Given the description of an element on the screen output the (x, y) to click on. 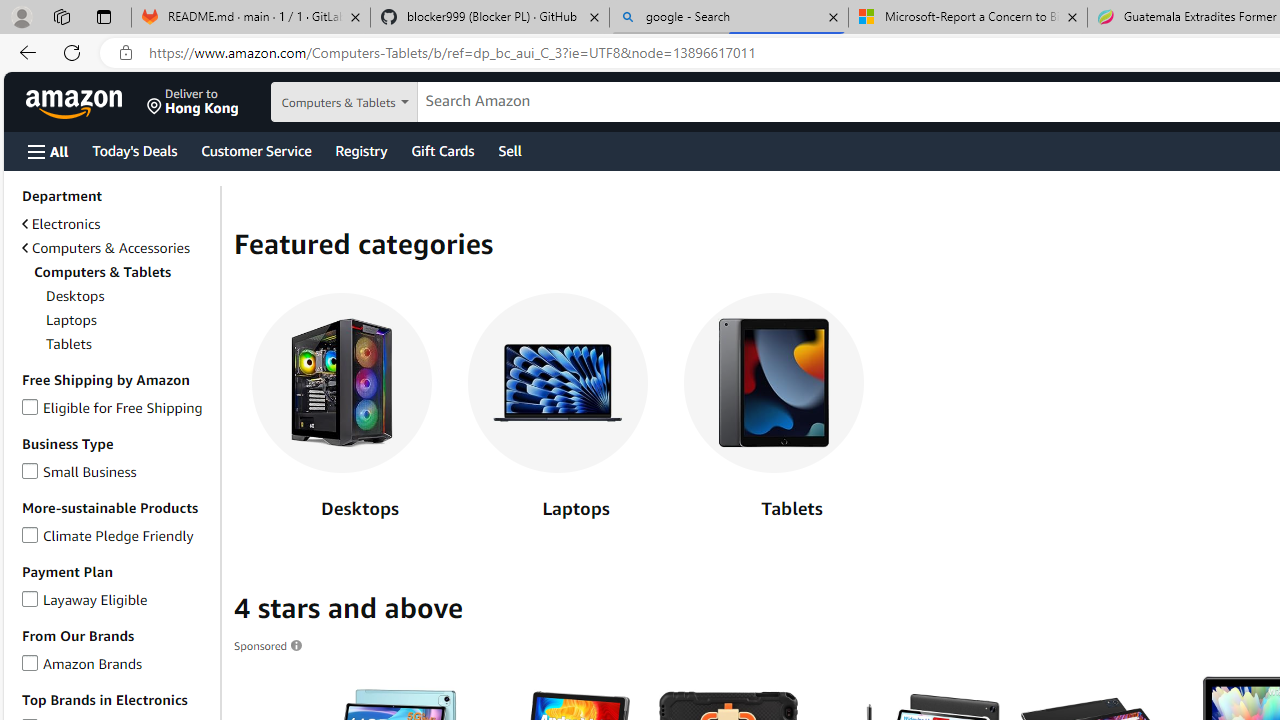
Customer Service (256, 150)
Electronics (61, 224)
Eligible for Free Shipping (29, 403)
